Given the description of an element on the screen output the (x, y) to click on. 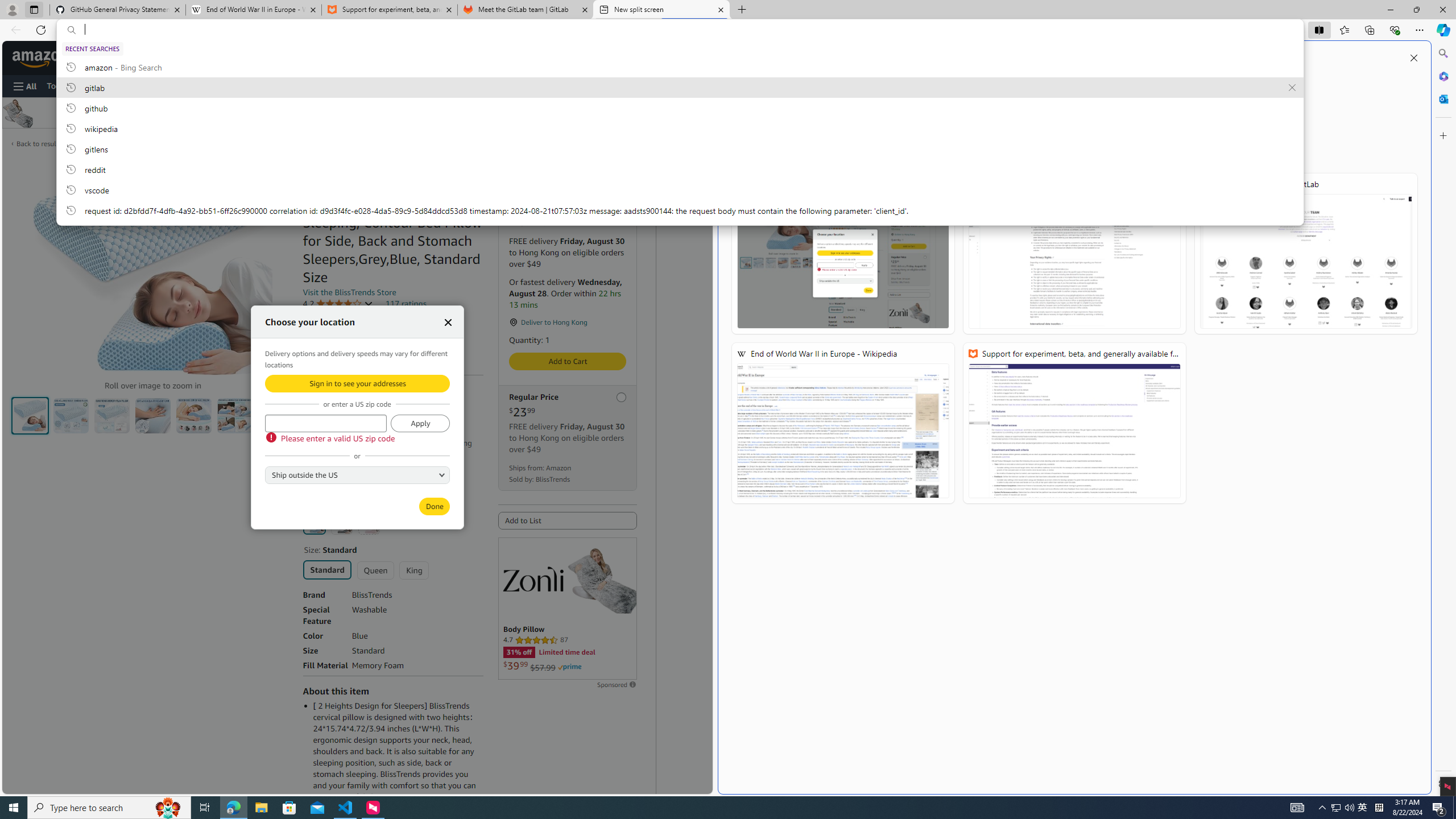
Queen (374, 570)
Apply 20% coupon Shop items | Terms (353, 465)
or enter a US zip code (325, 423)
117 ratings (405, 303)
wikipedia, recent searches from history (679, 127)
Gift Cards (235, 85)
Search Amazon (284, 57)
Visit the BlissTrends Store (349, 292)
Customer Service (136, 85)
1 item in cart (616, 57)
End of World War II in Europe - Wikipedia (253, 9)
Sell (270, 85)
Pink (369, 522)
